Given the description of an element on the screen output the (x, y) to click on. 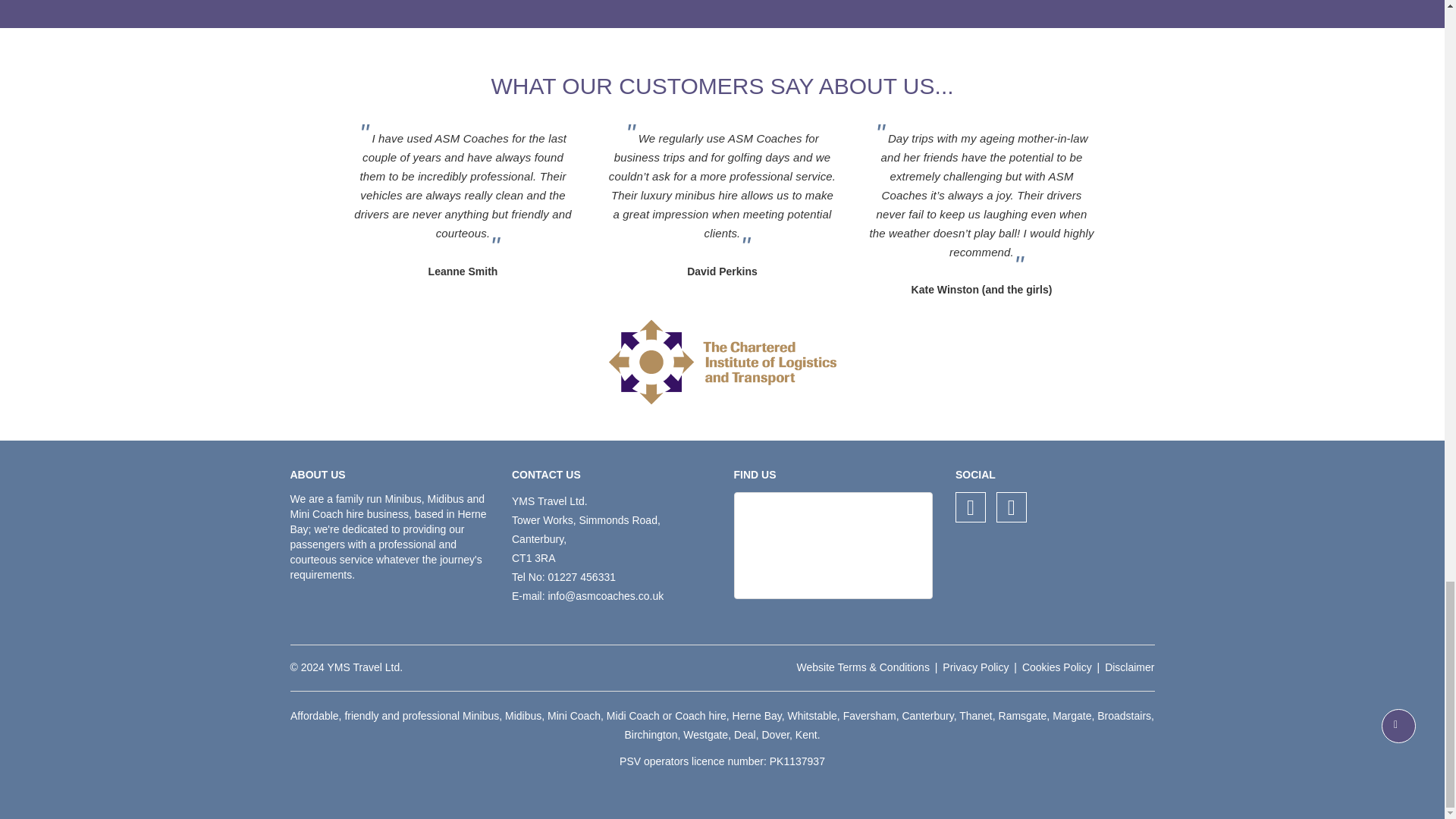
Disclaimer (1129, 666)
Cookies Policy (1057, 666)
Privacy Policy (975, 666)
01227 456331 (581, 576)
